Given the description of an element on the screen output the (x, y) to click on. 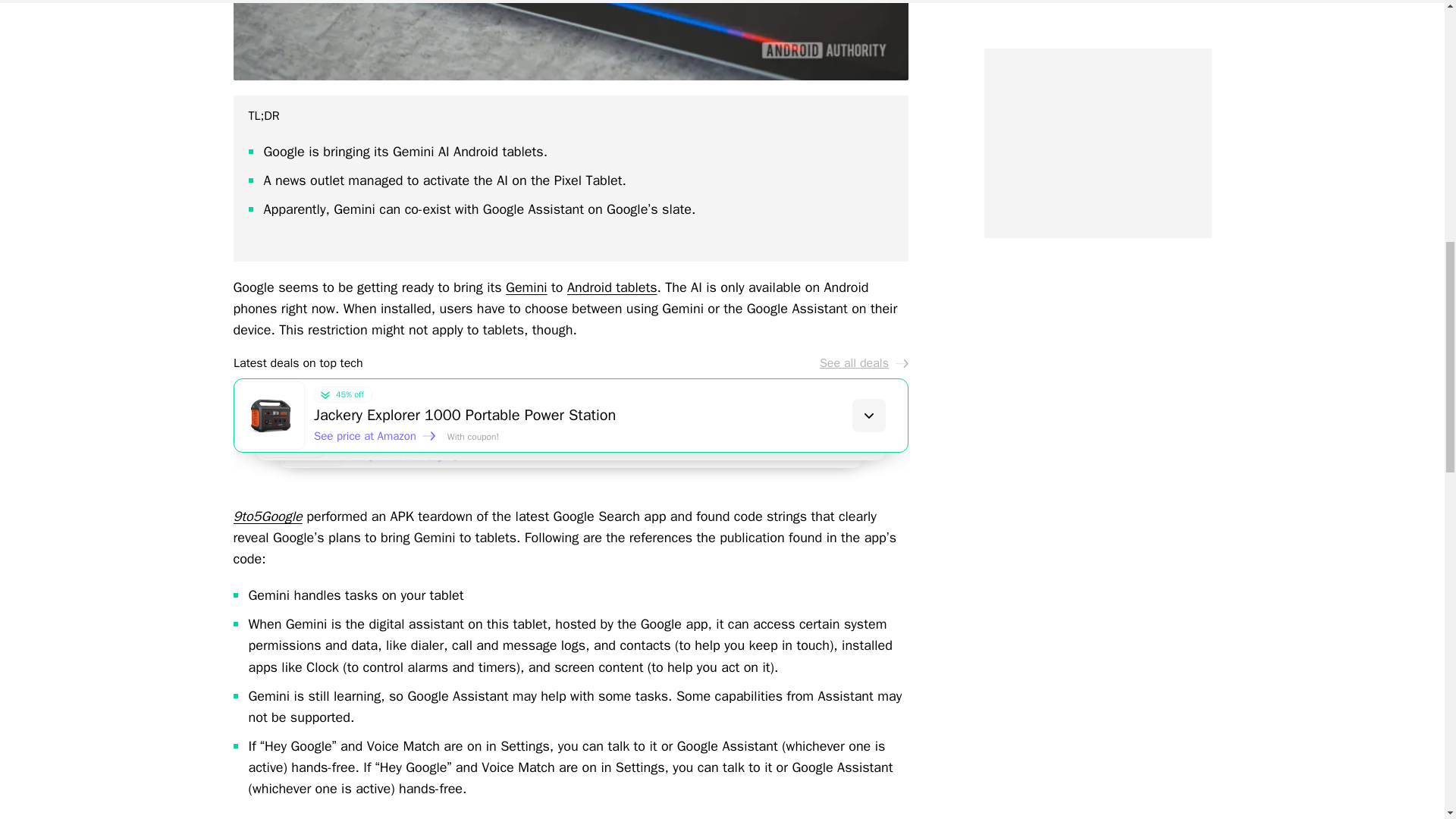
Jackery Explorer 100 Plus (627, 432)
See price at Amazon (374, 435)
See price at Best Buy (394, 448)
Gemini (526, 287)
9to5Google (267, 515)
Jackery Explorer 1000 Portable Power Station (609, 414)
See all deals (862, 363)
google pixel tablet assistant play music 1 (570, 40)
See price at Best Buy (412, 460)
Android tablets (612, 287)
Apple HomePod Mini (644, 450)
